Given the description of an element on the screen output the (x, y) to click on. 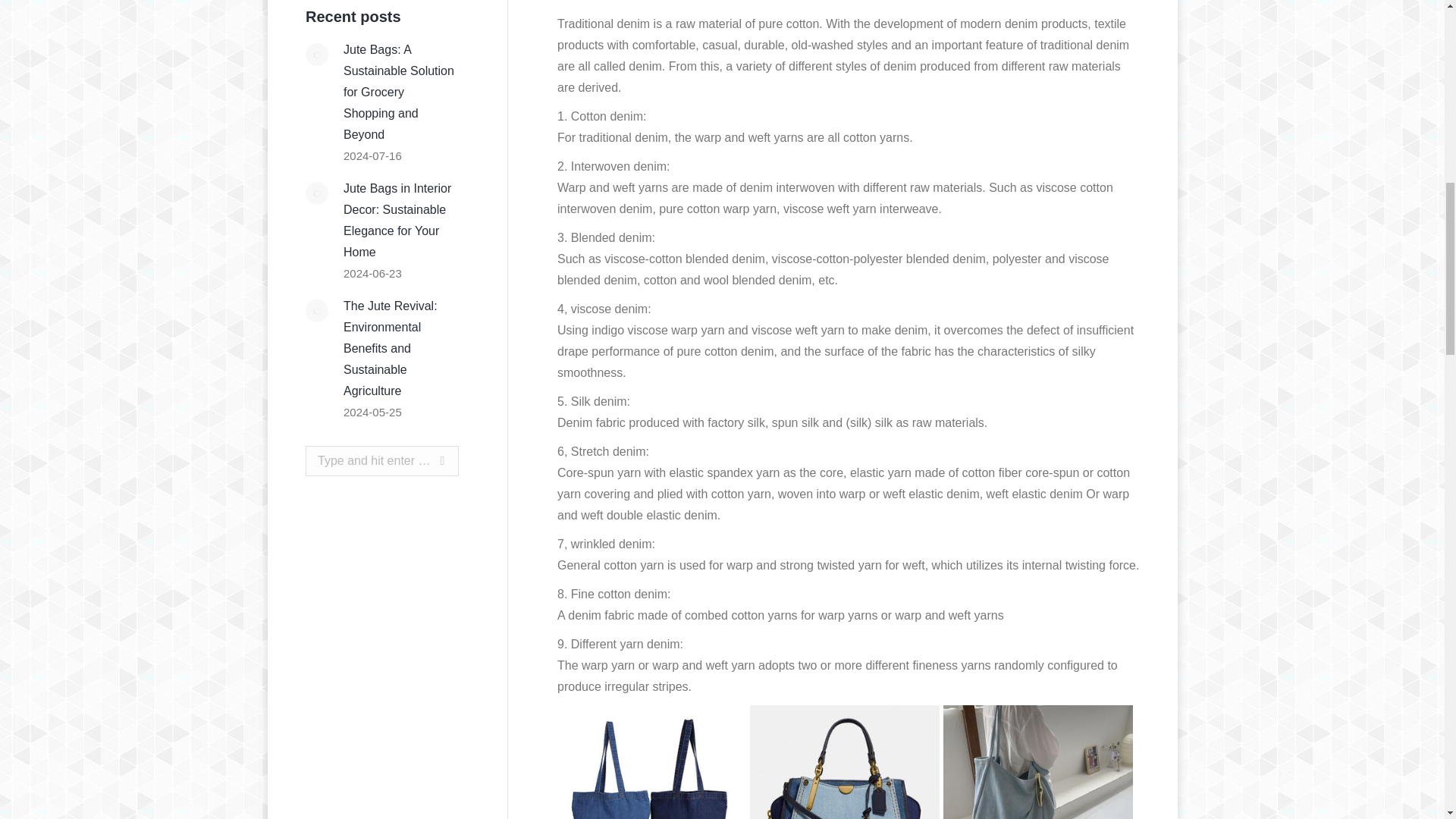
Go! (428, 460)
Go! (428, 460)
